Given the description of an element on the screen output the (x, y) to click on. 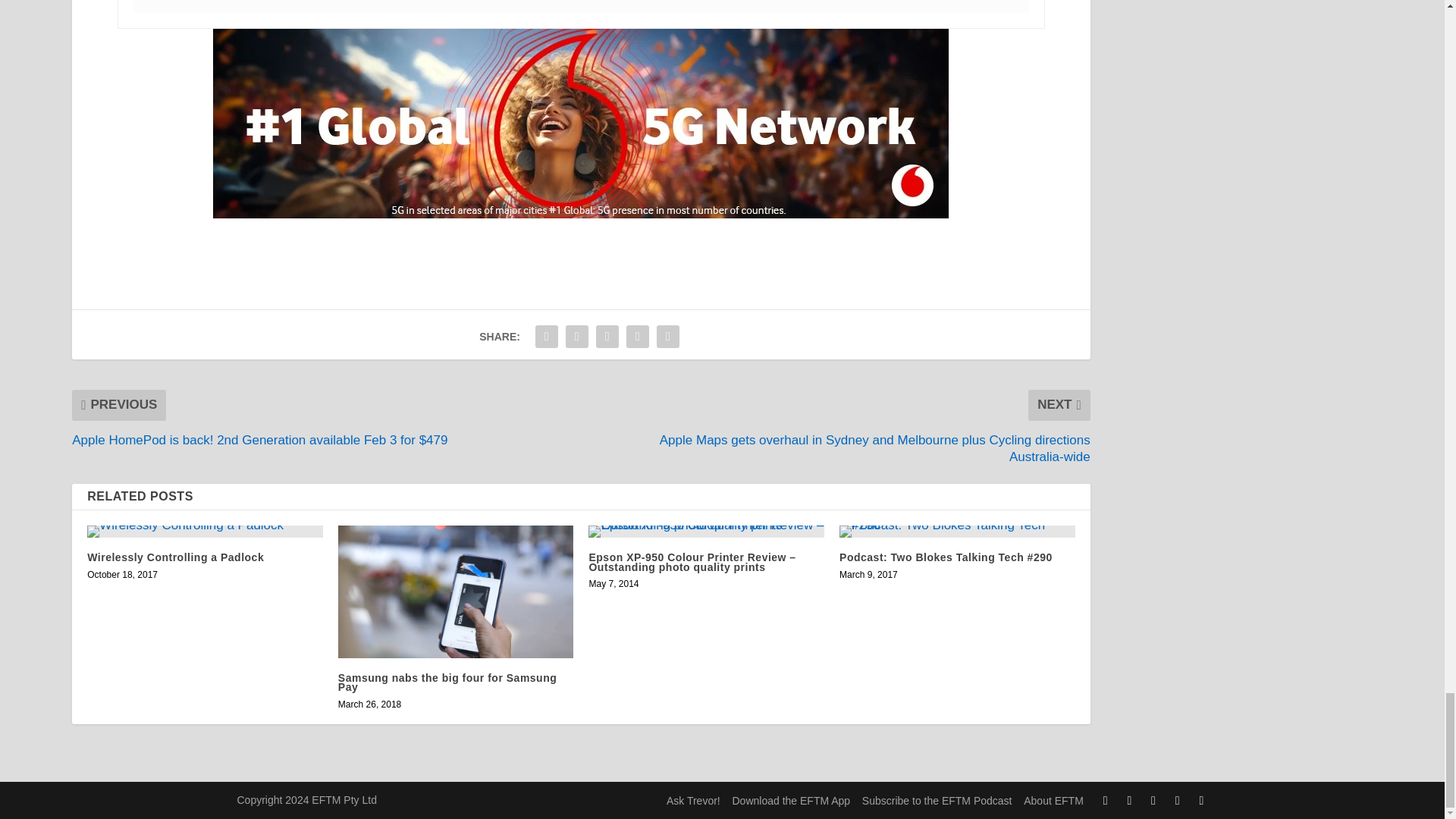
Samsung nabs the big four for Samsung Pay (455, 591)
Wirelessly Controlling a Padlock (205, 531)
